Given the description of an element on the screen output the (x, y) to click on. 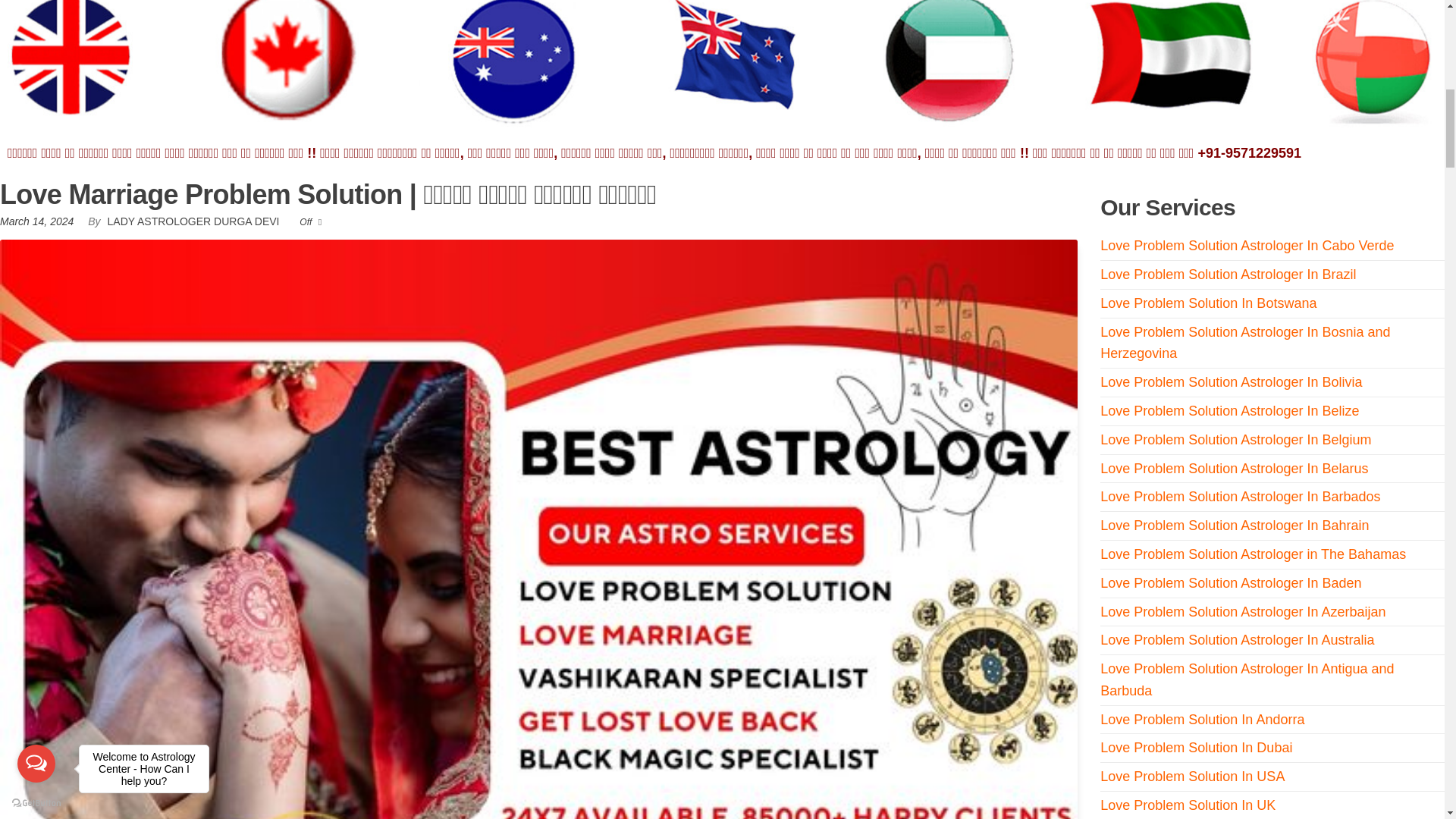
Love Problem Solution In UK (1187, 805)
Love Problem Solution Astrologer In Belgium (1235, 439)
Love Problem Solution Astrologer In Belize (1229, 410)
Love Problem Solution Astrologer In Bahrain (1234, 525)
Love Problem Solution Astrologer In Barbados (1240, 496)
Love Problem Solution Astrologer In Belarus (1234, 468)
Love Problem Solution In Andorra (1202, 719)
Love Problem Solution In USA (1192, 776)
Love Problem Solution Astrologer In Baden (1230, 582)
Love Problem Solution Astrologer In Azerbaijan (1243, 611)
Love Problem Solution In Dubai (1196, 747)
Love Problem Solution Astrologer In Brazil (1227, 273)
Love Problem Solution Astrologer In Bosnia and Herzegovina (1245, 342)
Love Problem Solution Astrologer in The Bahamas (1253, 554)
Love Problem Solution Astrologer In Antigua and Barbuda (1246, 679)
